Given the description of an element on the screen output the (x, y) to click on. 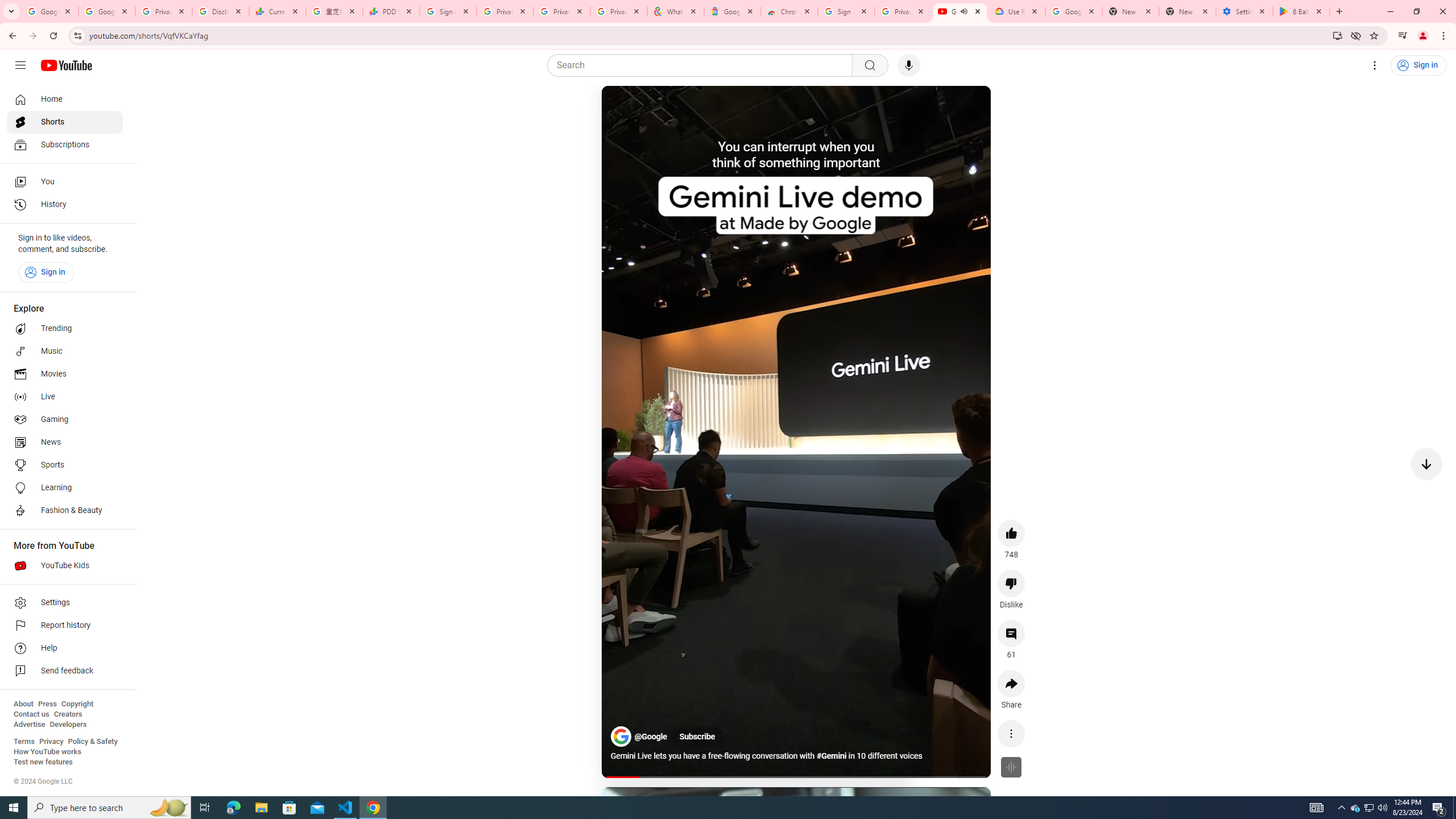
Test new features (42, 761)
@Google (651, 736)
Contact us (31, 714)
Subscriptions (64, 144)
Sports (64, 464)
Shorts (64, 121)
Developers (68, 724)
